Given the description of an element on the screen output the (x, y) to click on. 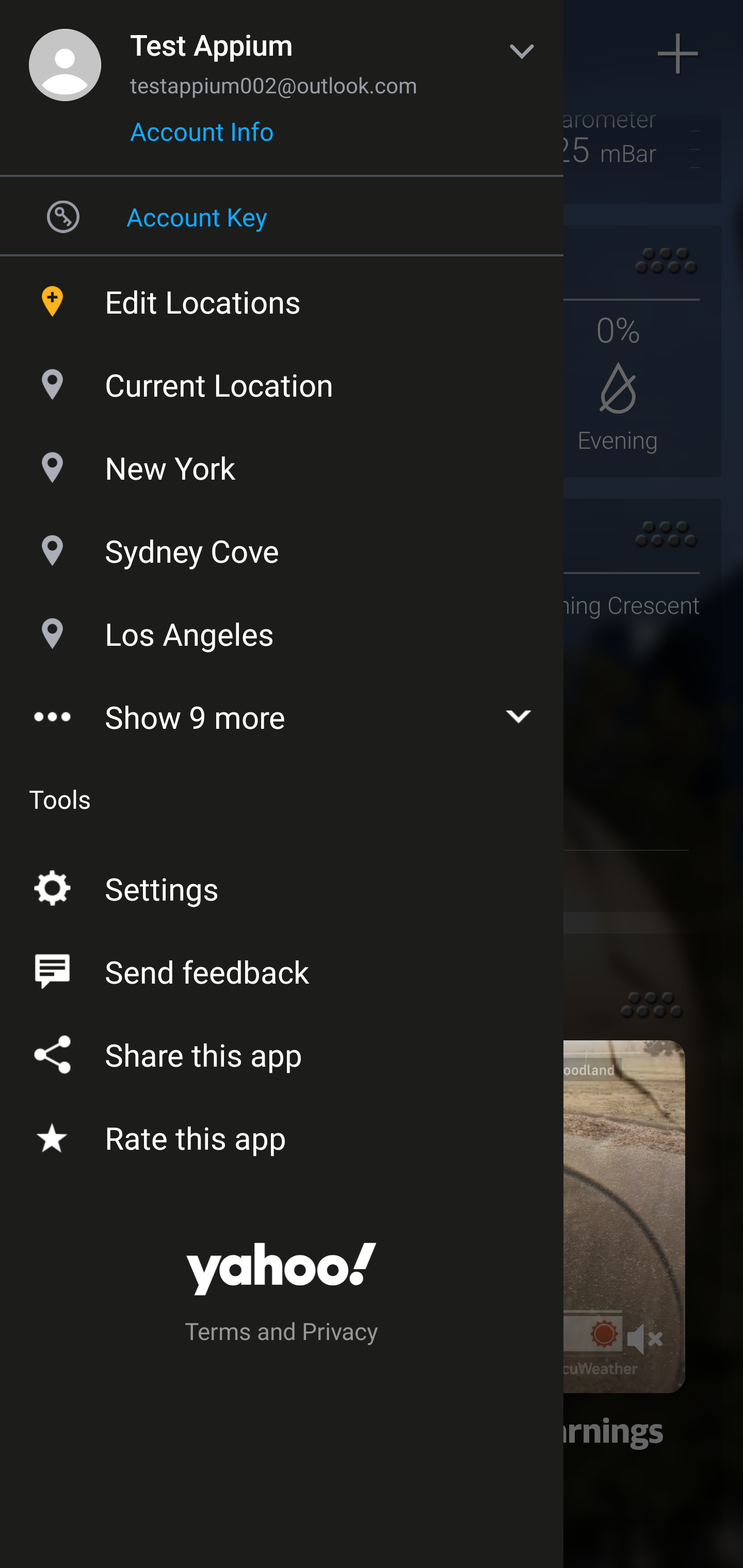
Sidebar (64, 54)
Add City (678, 53)
Account Info (202, 137)
Account Key (281, 216)
Edit Locations (281, 296)
Current Location (281, 379)
New York (281, 462)
Sydney Cove (281, 546)
Los Angeles (281, 629)
Settings (281, 884)
Send feedback (281, 967)
Share this app (281, 1050)
Terms and Privacy Terms and privacy button (281, 1334)
